Given the description of an element on the screen output the (x, y) to click on. 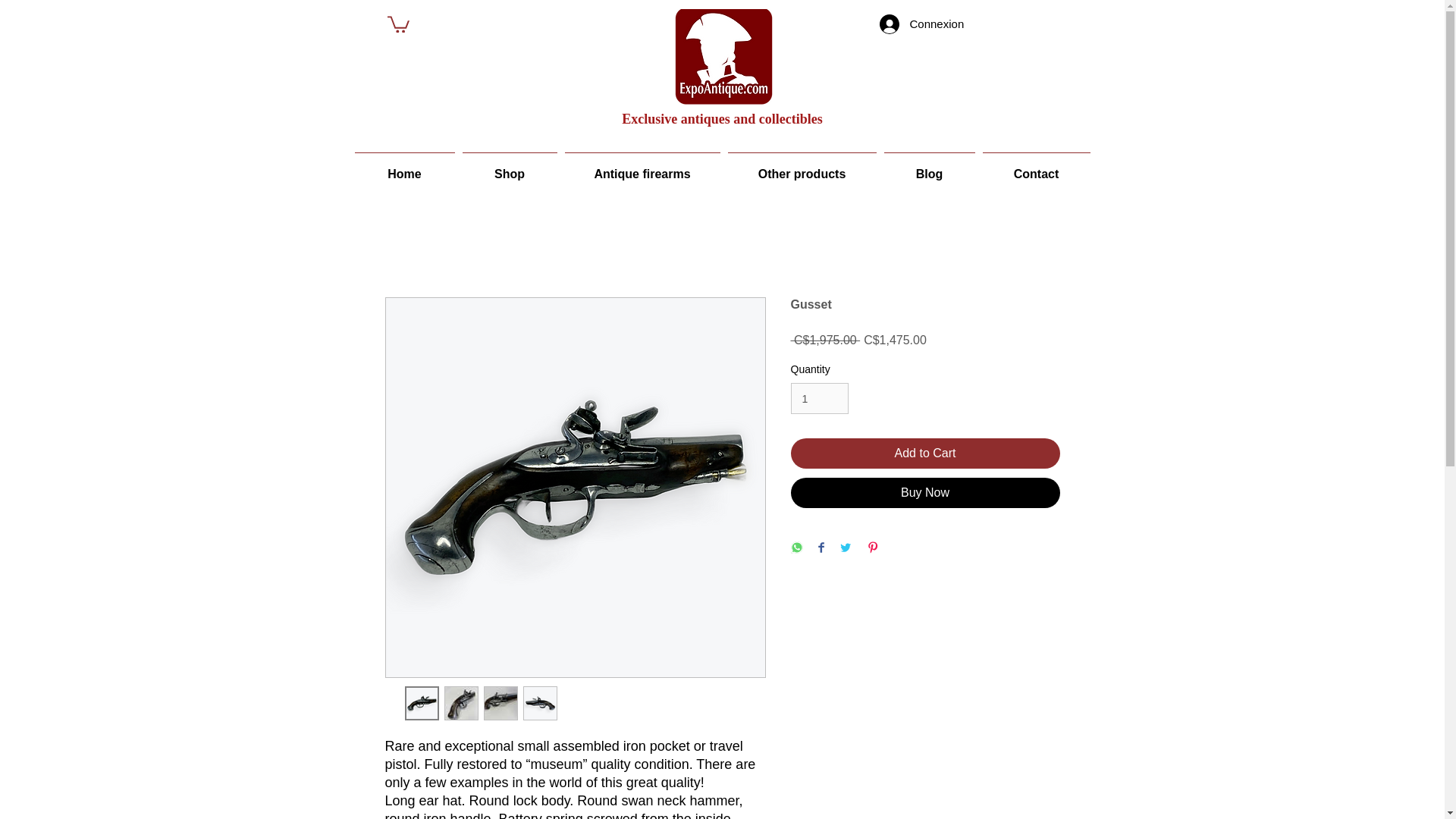
Contact (1035, 166)
Buy Now (924, 492)
Shop (509, 166)
Add to Cart (924, 453)
Home (404, 166)
Connexion (922, 23)
1 (818, 398)
Blog (928, 166)
